Given the description of an element on the screen output the (x, y) to click on. 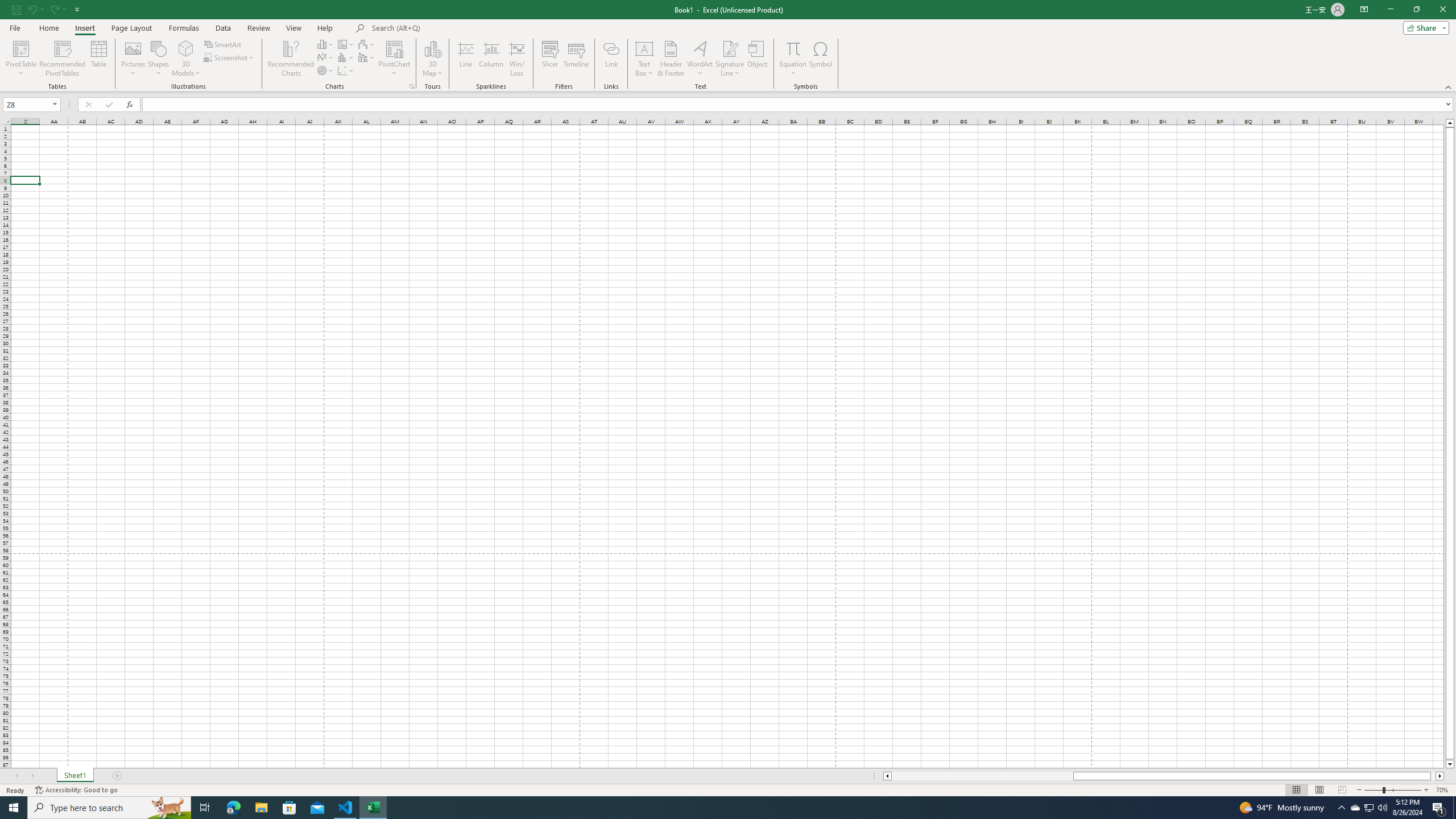
Class: MsoCommandBar (728, 45)
3D Map (432, 48)
3D Models (186, 48)
Insert Scatter (X, Y) or Bubble Chart (346, 69)
Recommended PivotTables (62, 58)
Pictures (133, 58)
Insert Hierarchy Chart (346, 44)
